Given the description of an element on the screen output the (x, y) to click on. 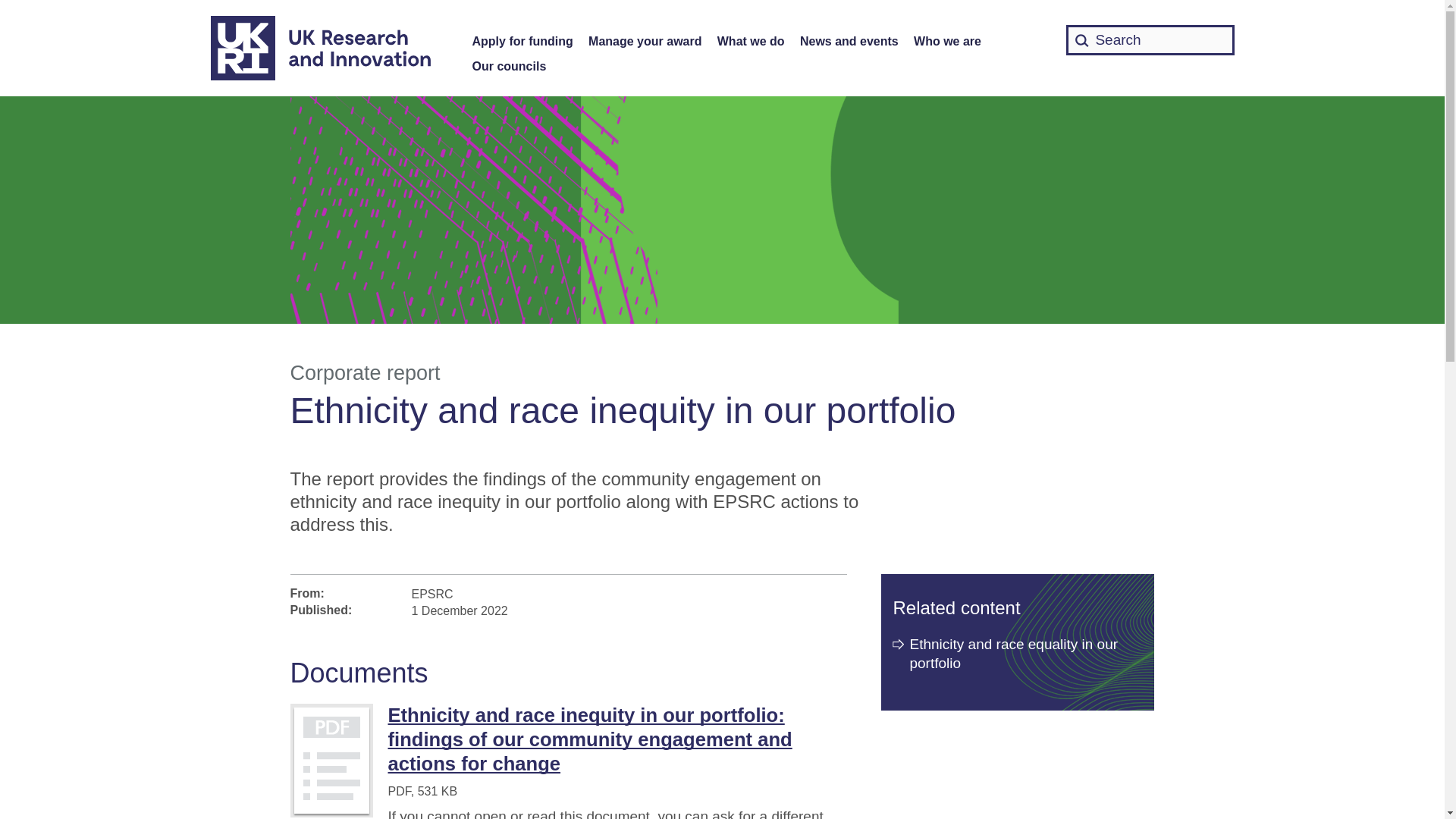
Manage your award (644, 41)
Our councils (508, 66)
Apply for funding (521, 41)
Who we are (947, 41)
What we do (750, 41)
Skip to main content (11, 7)
News and events (848, 41)
